Given the description of an element on the screen output the (x, y) to click on. 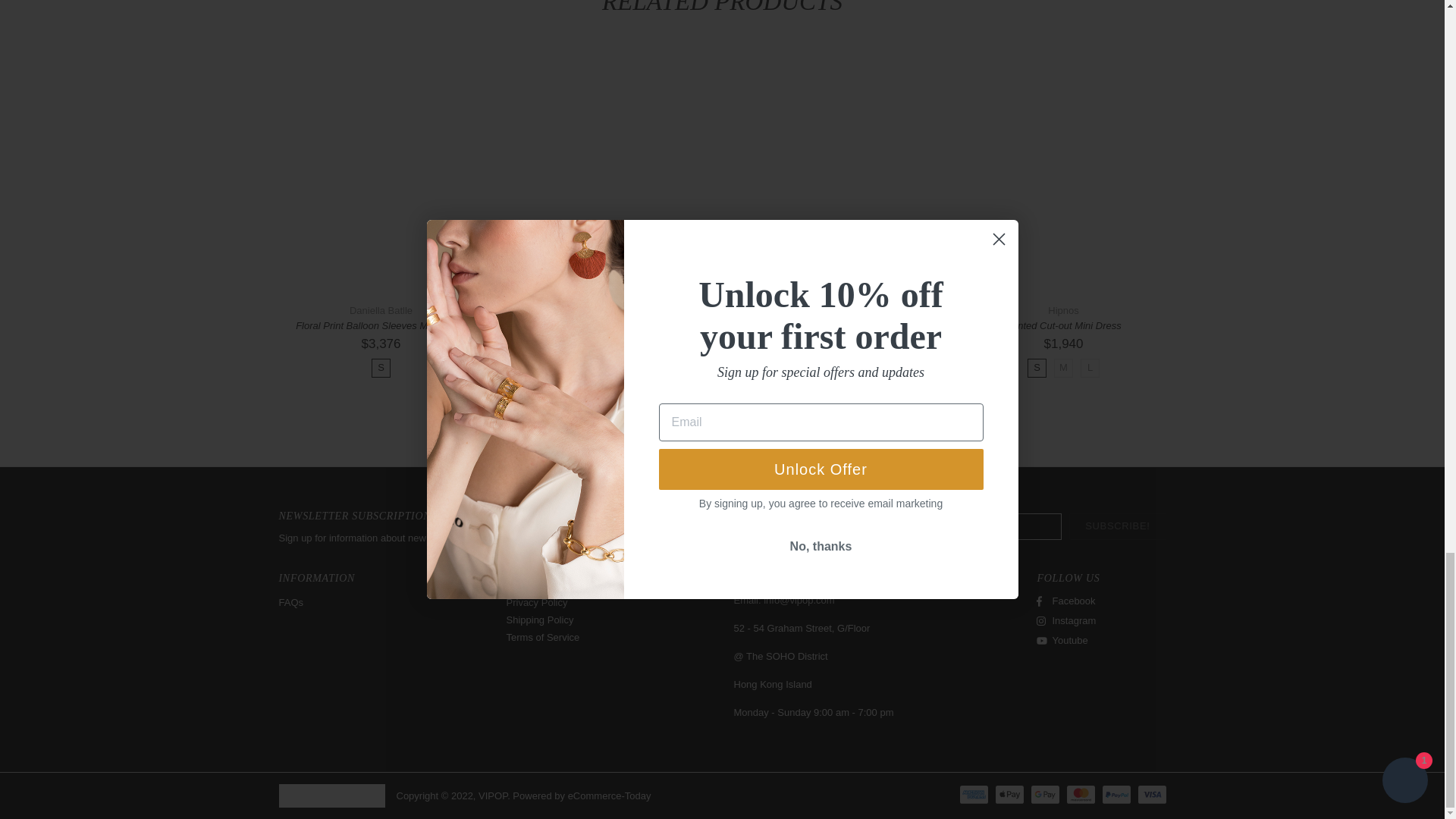
email address (798, 599)
SUBSCRIBE! (1117, 526)
eCommerce Today - Shopify Agency (608, 795)
